Given the description of an element on the screen output the (x, y) to click on. 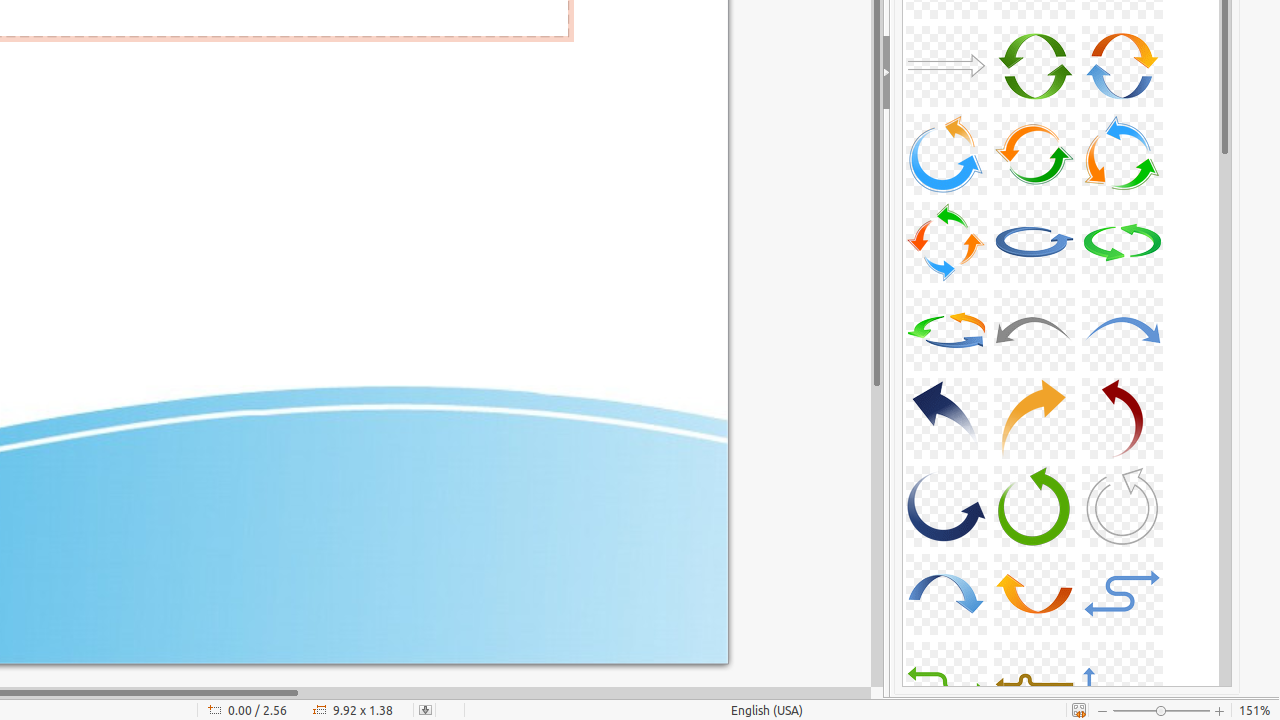
A23-CurvedArrow-Gray-Left Element type: list-item (1034, 330)
A31-CurvedArrow-LightBlue Element type: list-item (946, 594)
A22-CircleArrow Element type: list-item (946, 330)
A16-CircleArrow Element type: list-item (946, 154)
A25-CurvedArrow-DarkBlue Element type: list-item (946, 417)
